Given the description of an element on the screen output the (x, y) to click on. 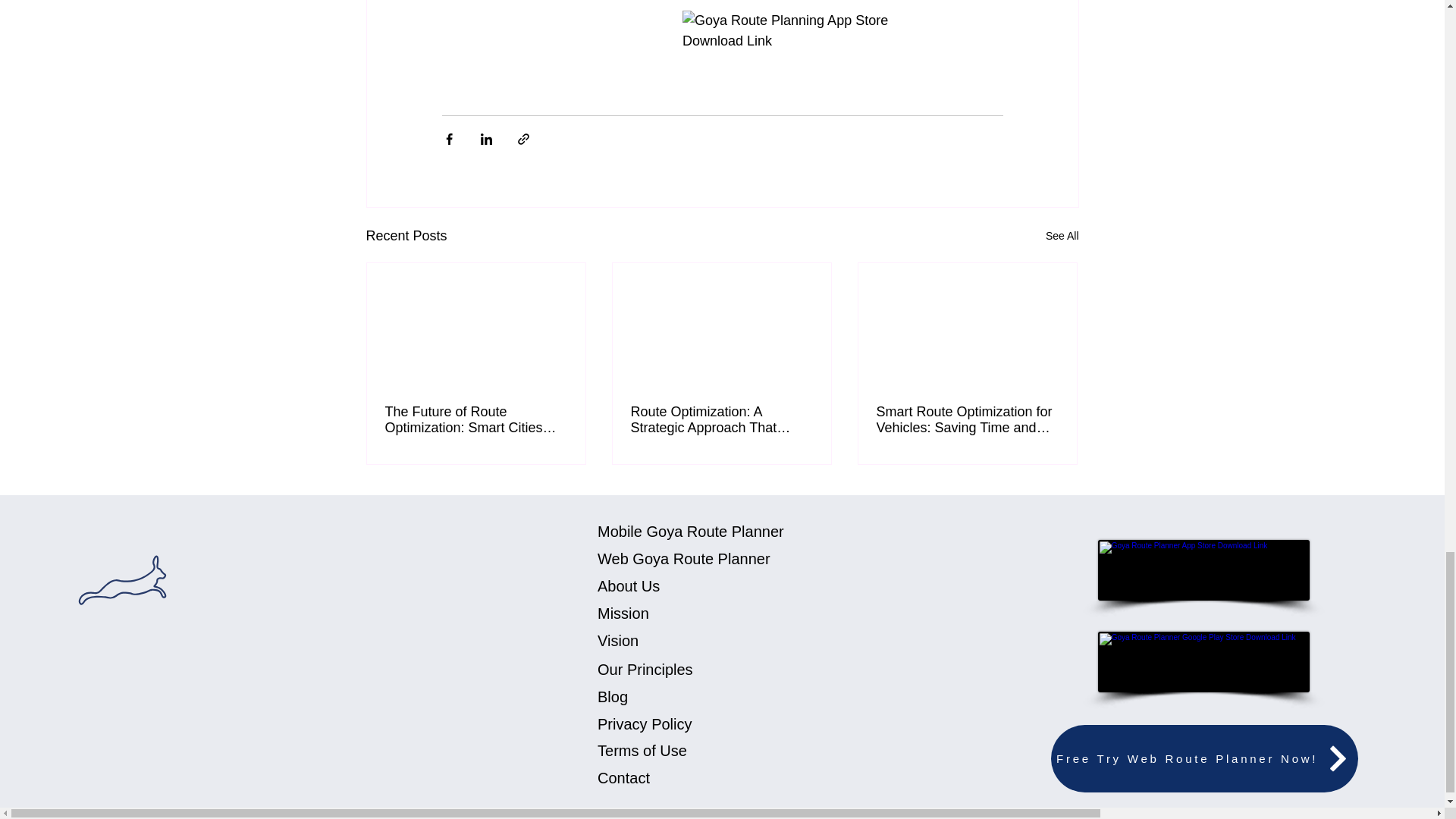
Goya Route Planner App Store Download Link (1202, 569)
Contact (622, 777)
Web Goya Route Planner (683, 558)
Privacy Policy (643, 723)
Mobile Goya Route Planner (690, 531)
Our Principles (644, 669)
Goya Route Planner Google Play Store Download Link (1202, 661)
Mission (622, 613)
